Given the description of an element on the screen output the (x, y) to click on. 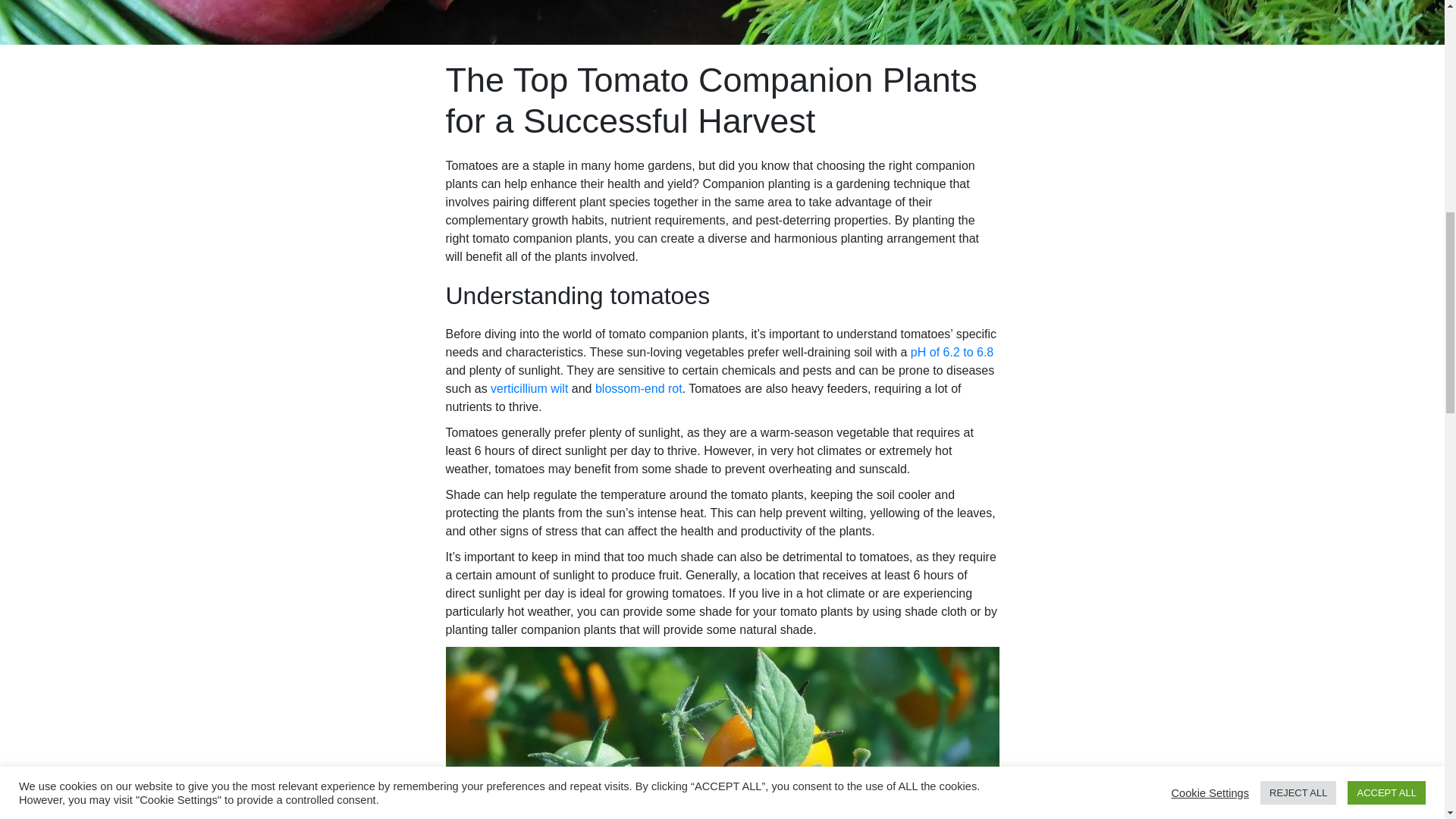
pH of 6.2 to 6.8 (951, 351)
verticillium wilt (528, 388)
blossom-end rot (638, 388)
